Given the description of an element on the screen output the (x, y) to click on. 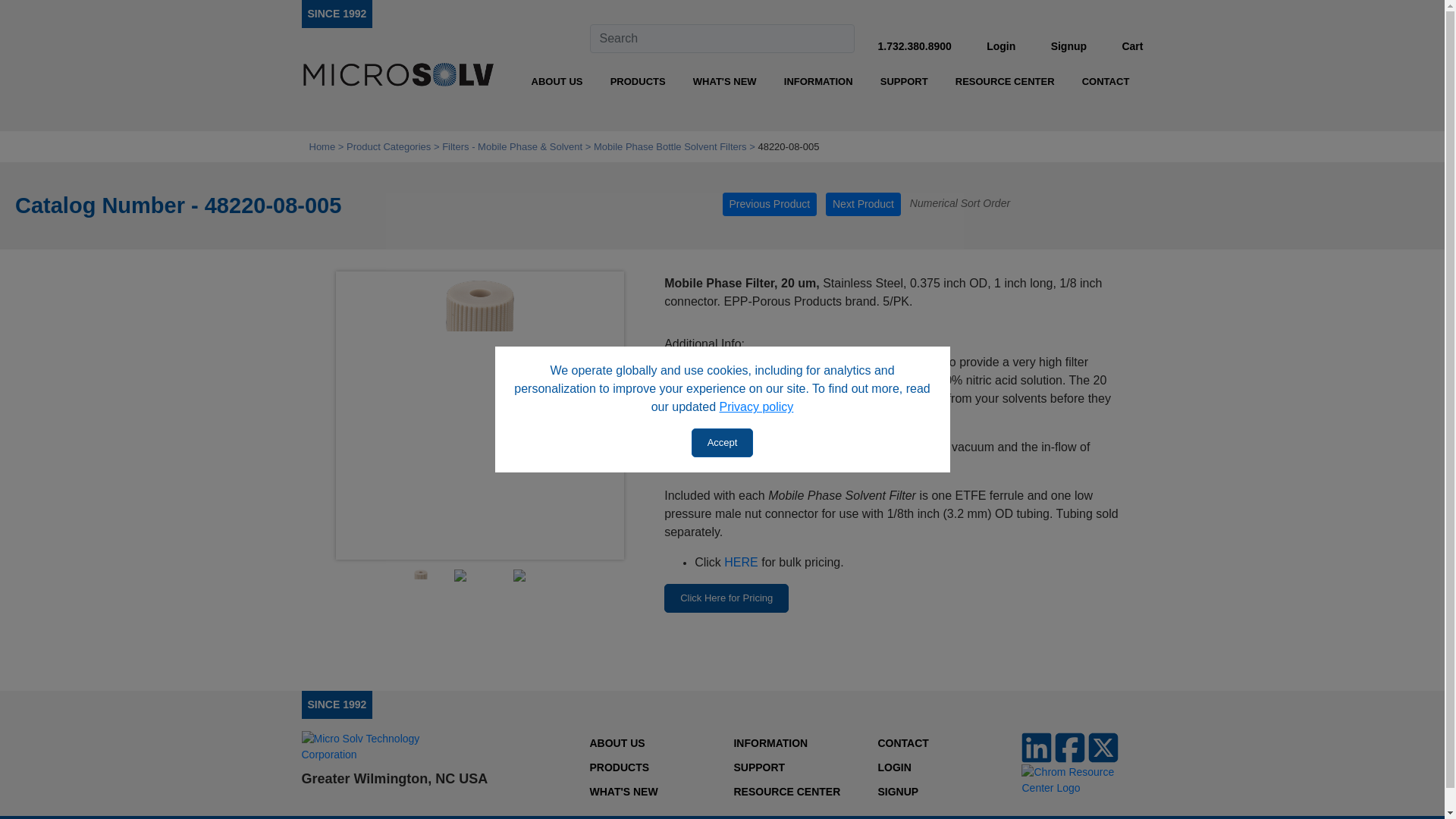
PRODUCTS (637, 81)
Information (818, 81)
Signup (1068, 46)
Cart (1131, 46)
Micro Solv Technology Corporation (336, 13)
SINCE 1992 (336, 13)
Micro Solv Technology Corporation (398, 76)
Login (1000, 46)
Products (637, 81)
About Us (557, 81)
